Given the description of an element on the screen output the (x, y) to click on. 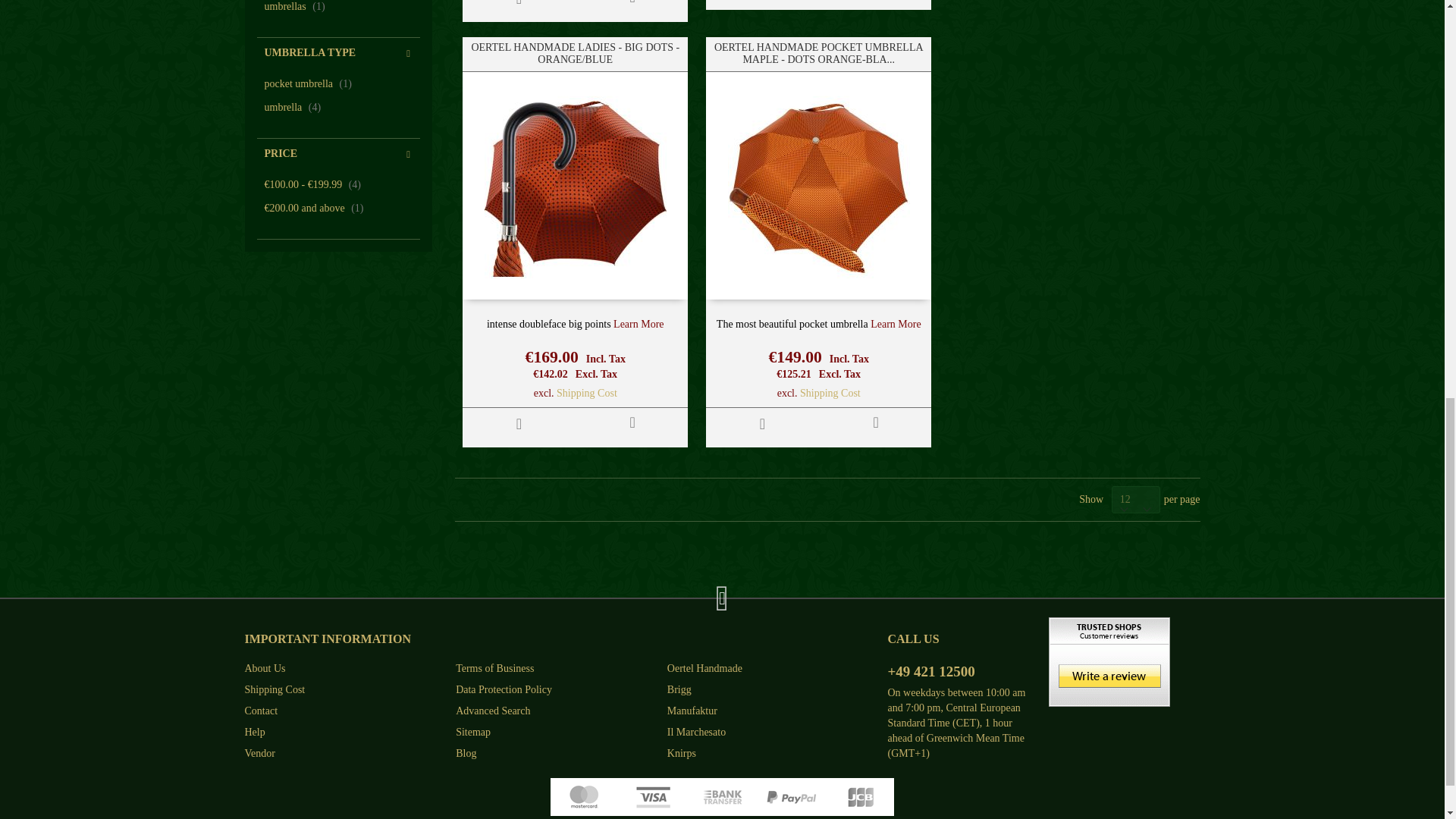
Add to Compare (631, 421)
Add to Cart (518, 7)
Add to Cart (762, 1)
Add to Cart (518, 423)
Add to Compare (631, 5)
